Given the description of an element on the screen output the (x, y) to click on. 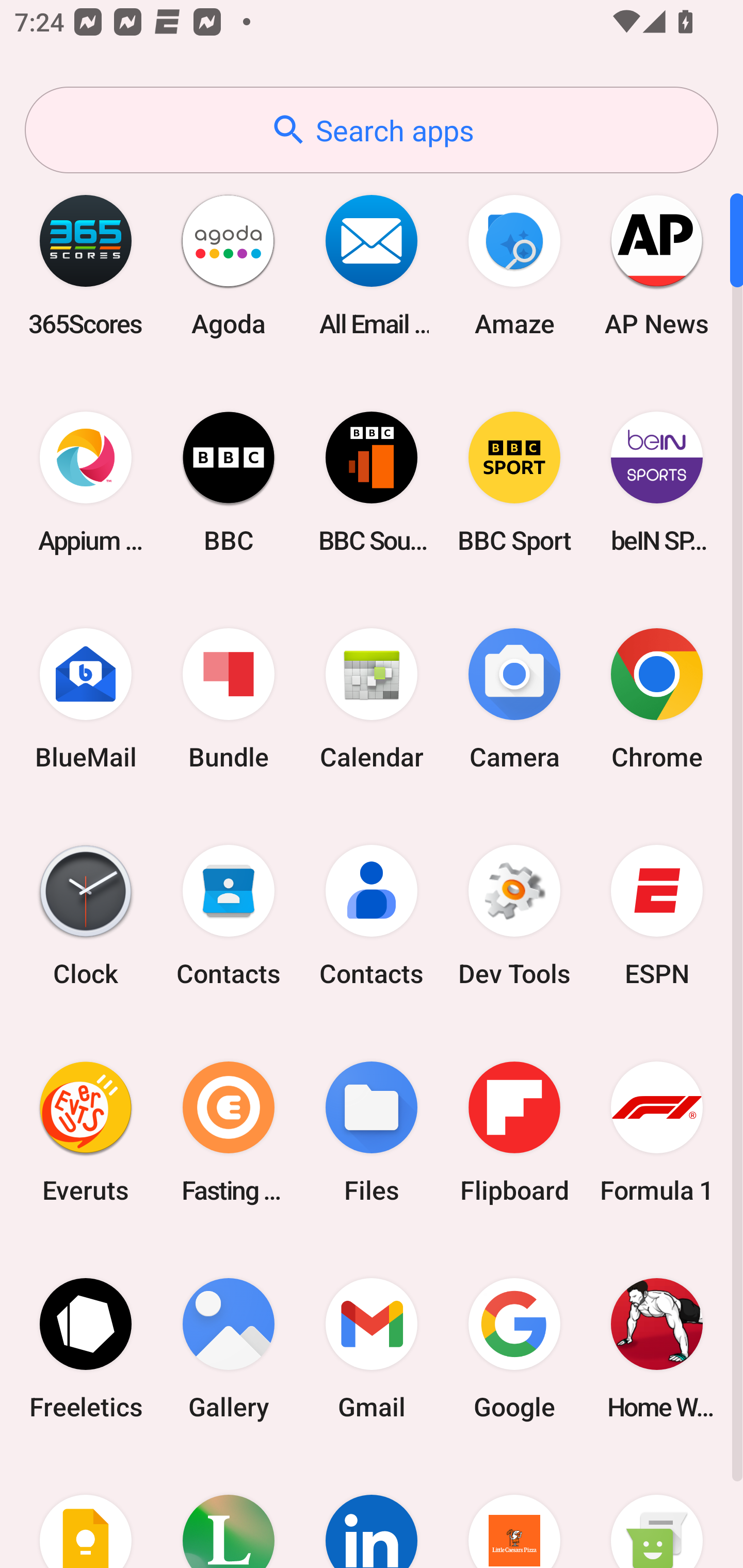
  Search apps (371, 130)
365Scores (85, 264)
Agoda (228, 264)
All Email Connect (371, 264)
Amaze (514, 264)
AP News (656, 264)
Appium Settings (85, 482)
BBC (228, 482)
BBC Sounds (371, 482)
BBC Sport (514, 482)
beIN SPORTS (656, 482)
BlueMail (85, 699)
Bundle (228, 699)
Calendar (371, 699)
Camera (514, 699)
Chrome (656, 699)
Clock (85, 915)
Contacts (228, 915)
Contacts (371, 915)
Dev Tools (514, 915)
ESPN (656, 915)
Everuts (85, 1131)
Fasting Coach (228, 1131)
Files (371, 1131)
Flipboard (514, 1131)
Formula 1 (656, 1131)
Freeletics (85, 1348)
Gallery (228, 1348)
Gmail (371, 1348)
Google (514, 1348)
Home Workout (656, 1348)
Keep Notes (85, 1512)
Lifesum (228, 1512)
LinkedIn (371, 1512)
Little Caesars Pizza (514, 1512)
Messaging (656, 1512)
